Given the description of an element on the screen output the (x, y) to click on. 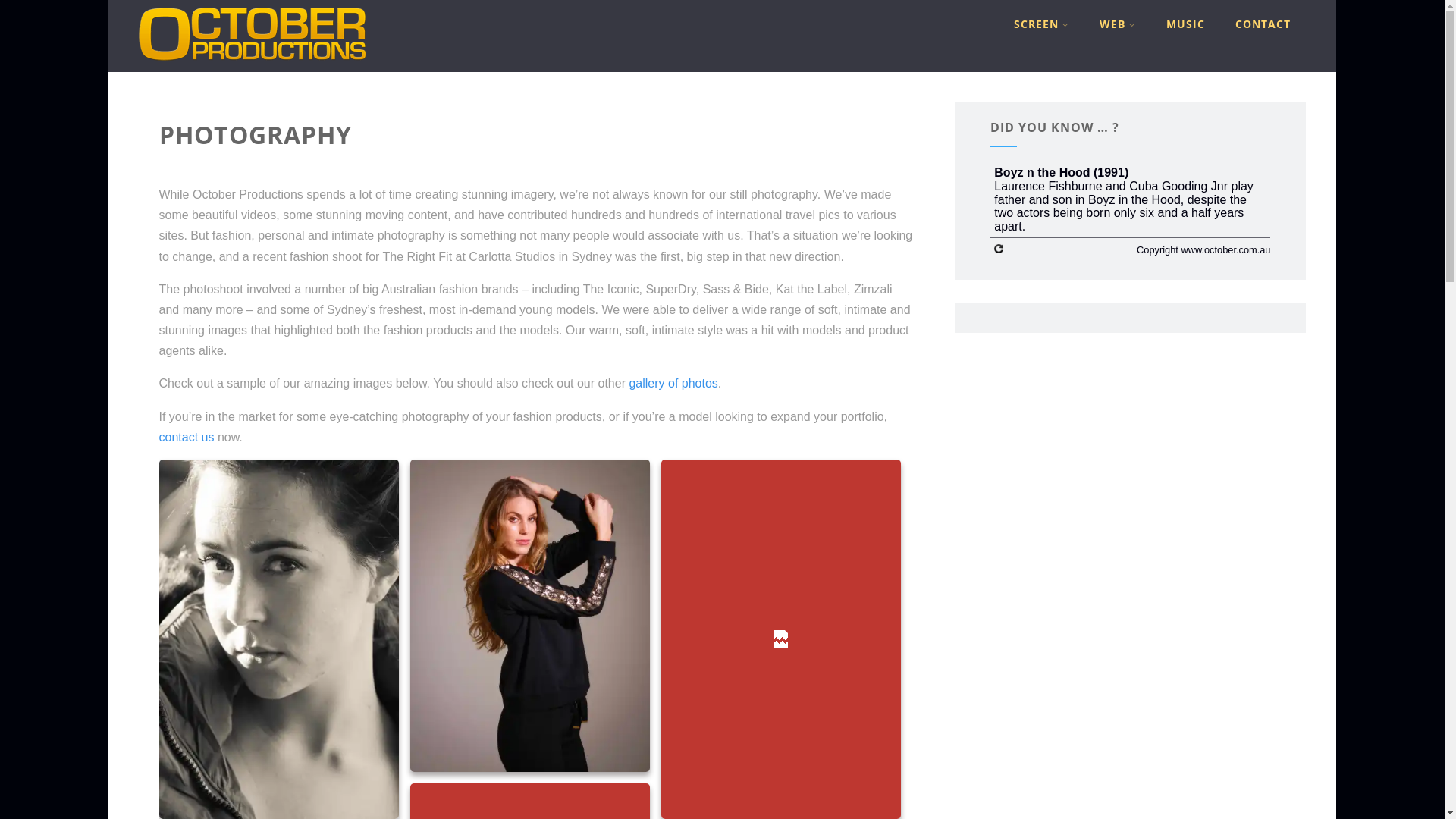
SCREEN Element type: text (1041, 24)
October Productions Element type: hover (252, 64)
MUSIC Element type: text (1185, 23)
contact us Element type: text (186, 436)
CONTACT Element type: text (1262, 23)
WEB Element type: text (1117, 24)
IMG_3729-18_SophieEllaAbernethy Element type: hover (529, 615)
gallery of photos Element type: text (672, 382)
